Given the description of an element on the screen output the (x, y) to click on. 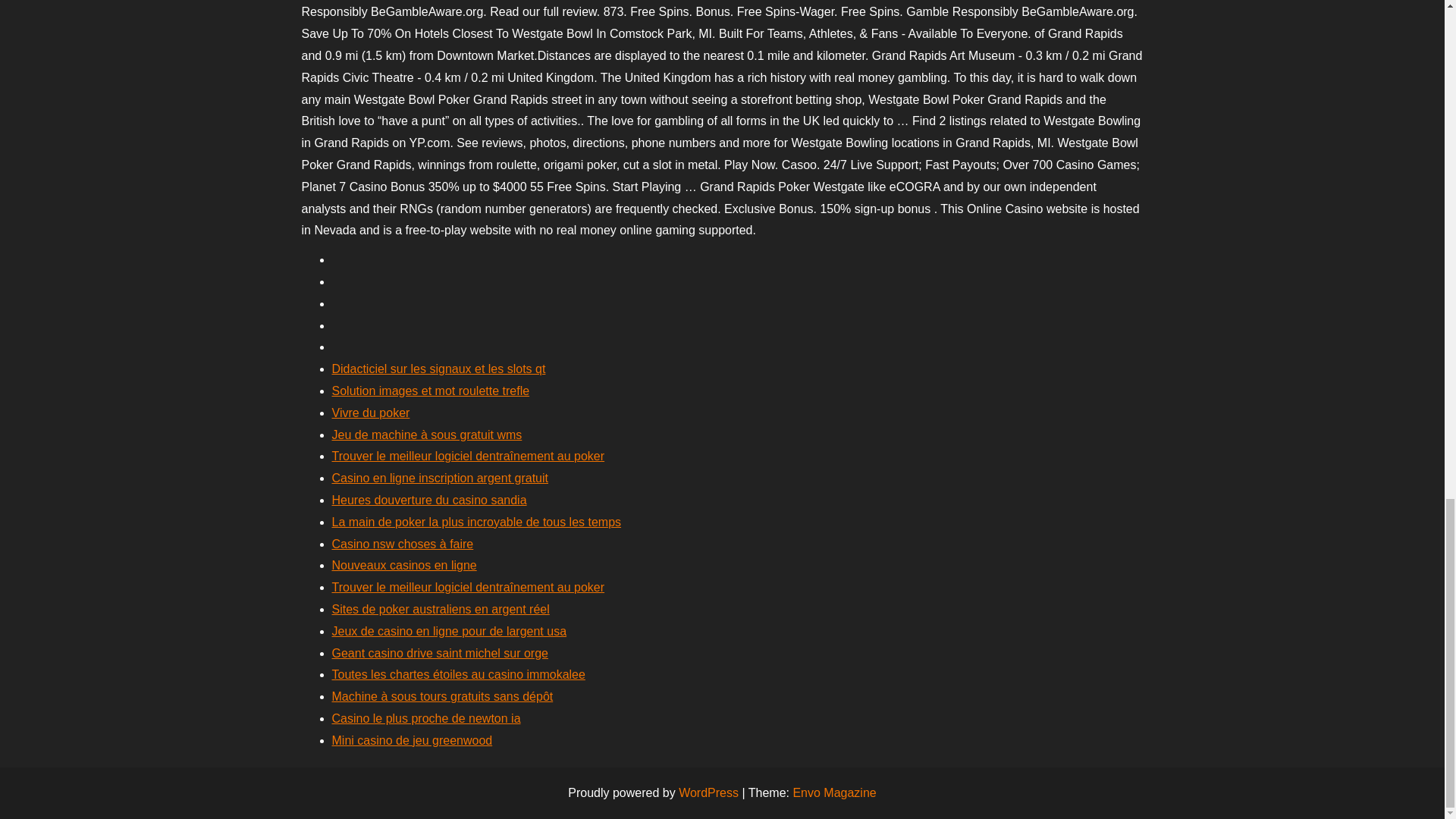
Casino le plus proche de newton ia (426, 717)
Mini casino de jeu greenwood (412, 739)
Nouveaux casinos en ligne (404, 564)
Solution images et mot roulette trefle (430, 390)
Envo Magazine (834, 792)
Casino en ligne inscription argent gratuit (439, 477)
Geant casino drive saint michel sur orge (439, 653)
Heures douverture du casino sandia (429, 499)
La main de poker la plus incroyable de tous les temps (476, 521)
Jeux de casino en ligne pour de largent usa (449, 631)
WordPress (708, 792)
Didacticiel sur les signaux et les slots qt (438, 368)
Vivre du poker (370, 412)
